Given the description of an element on the screen output the (x, y) to click on. 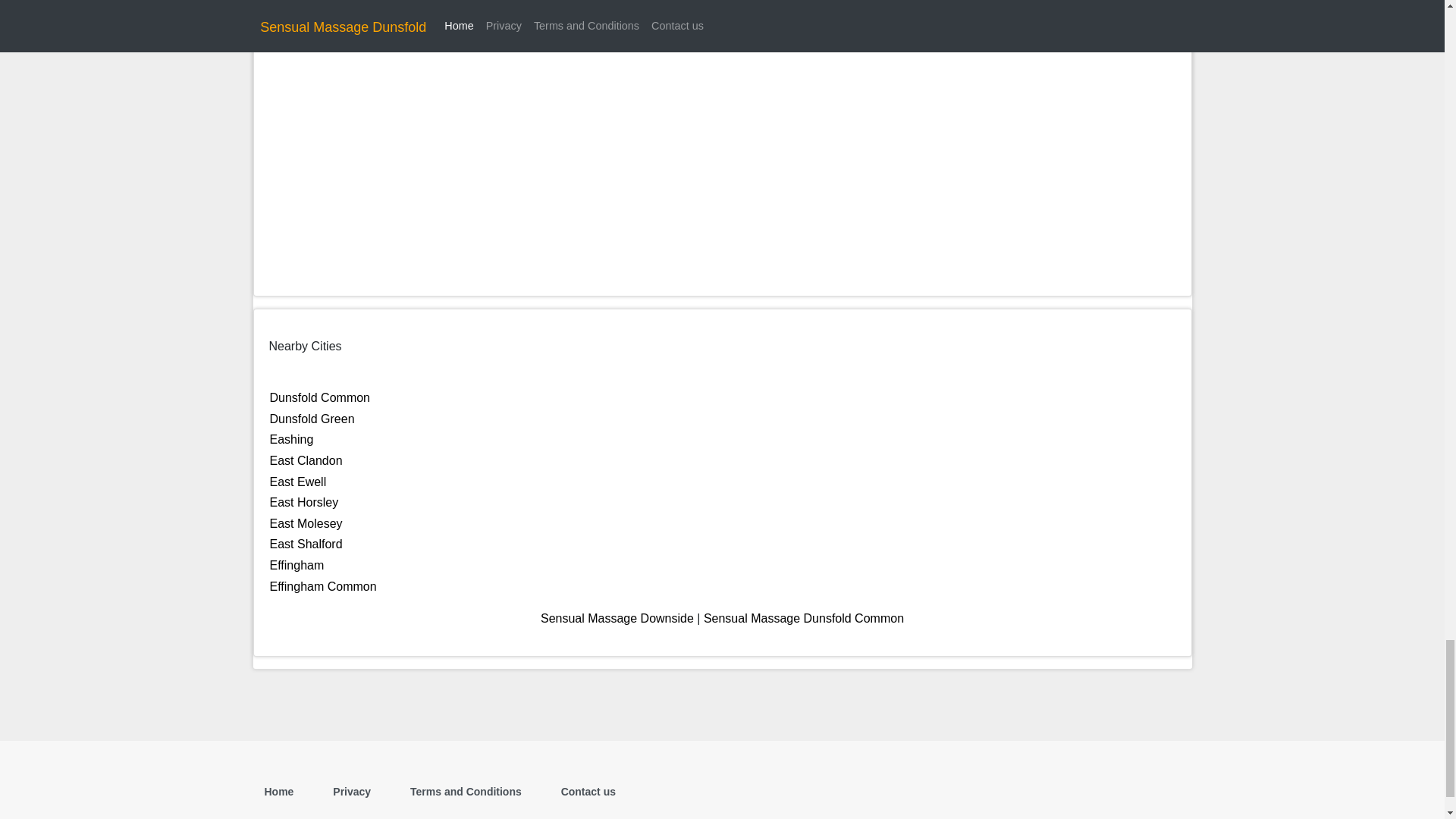
East Clandon (305, 460)
East Ewell (297, 481)
Dunsfold Common (320, 397)
Effingham (296, 564)
East Horsley (304, 502)
East Molesey (305, 522)
Sensual Massage Downside (617, 617)
Dunsfold Green (312, 418)
Sensual Massage Dunsfold Common (803, 617)
Eashing (291, 439)
